Given the description of an element on the screen output the (x, y) to click on. 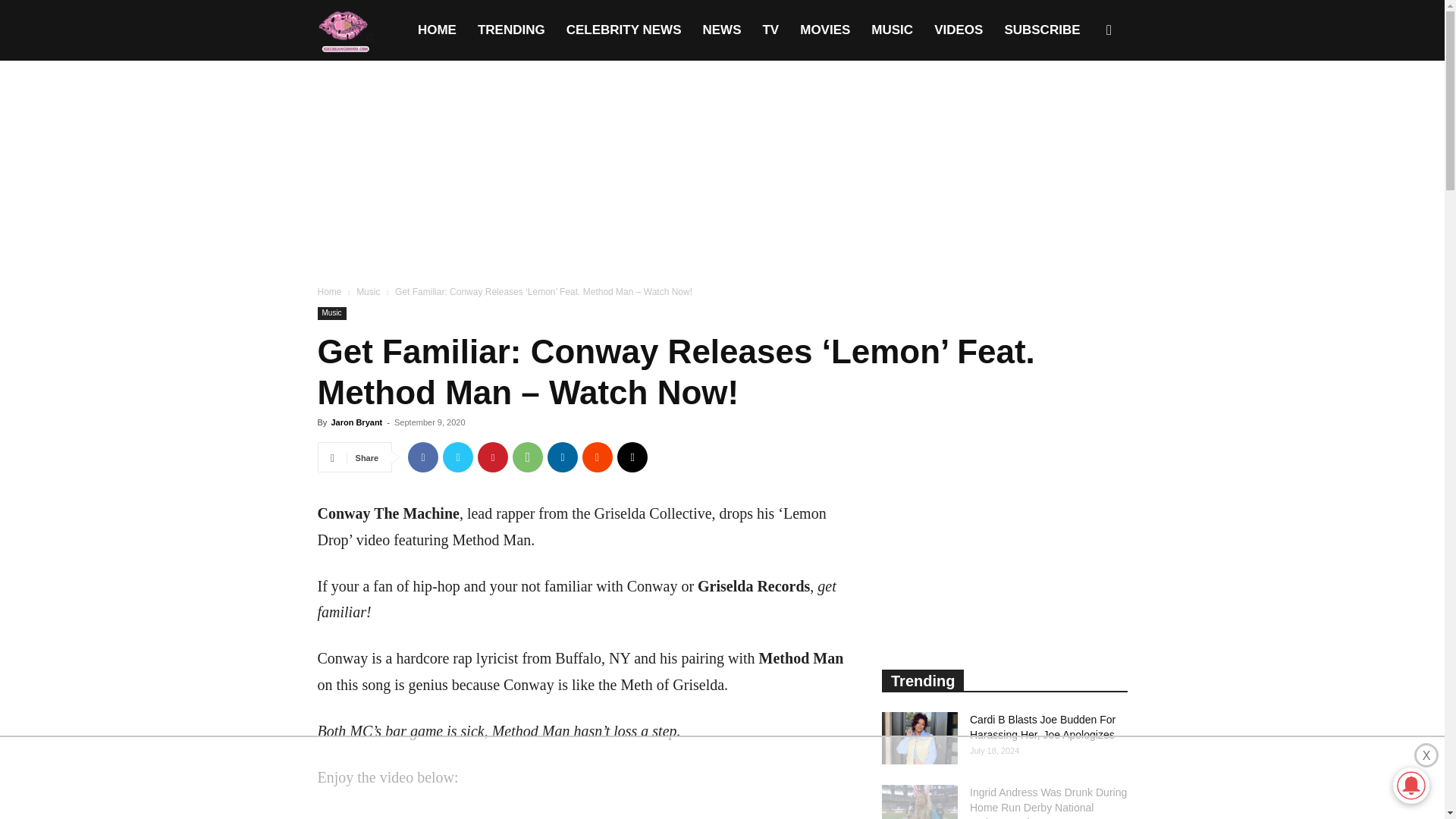
TRENDING (511, 30)
Ice Cream Convos (344, 30)
Email (632, 457)
Pinterest (492, 457)
MOVIES (824, 30)
WhatsApp (527, 457)
MUSIC (891, 30)
VIDEOS (957, 30)
Jaron Bryant (355, 421)
3rd party ad content (721, 777)
Facebook (422, 457)
HOME (437, 30)
CELEBRITY NEWS (624, 30)
Twitter (457, 457)
Linkedin (562, 457)
